Given the description of an element on the screen output the (x, y) to click on. 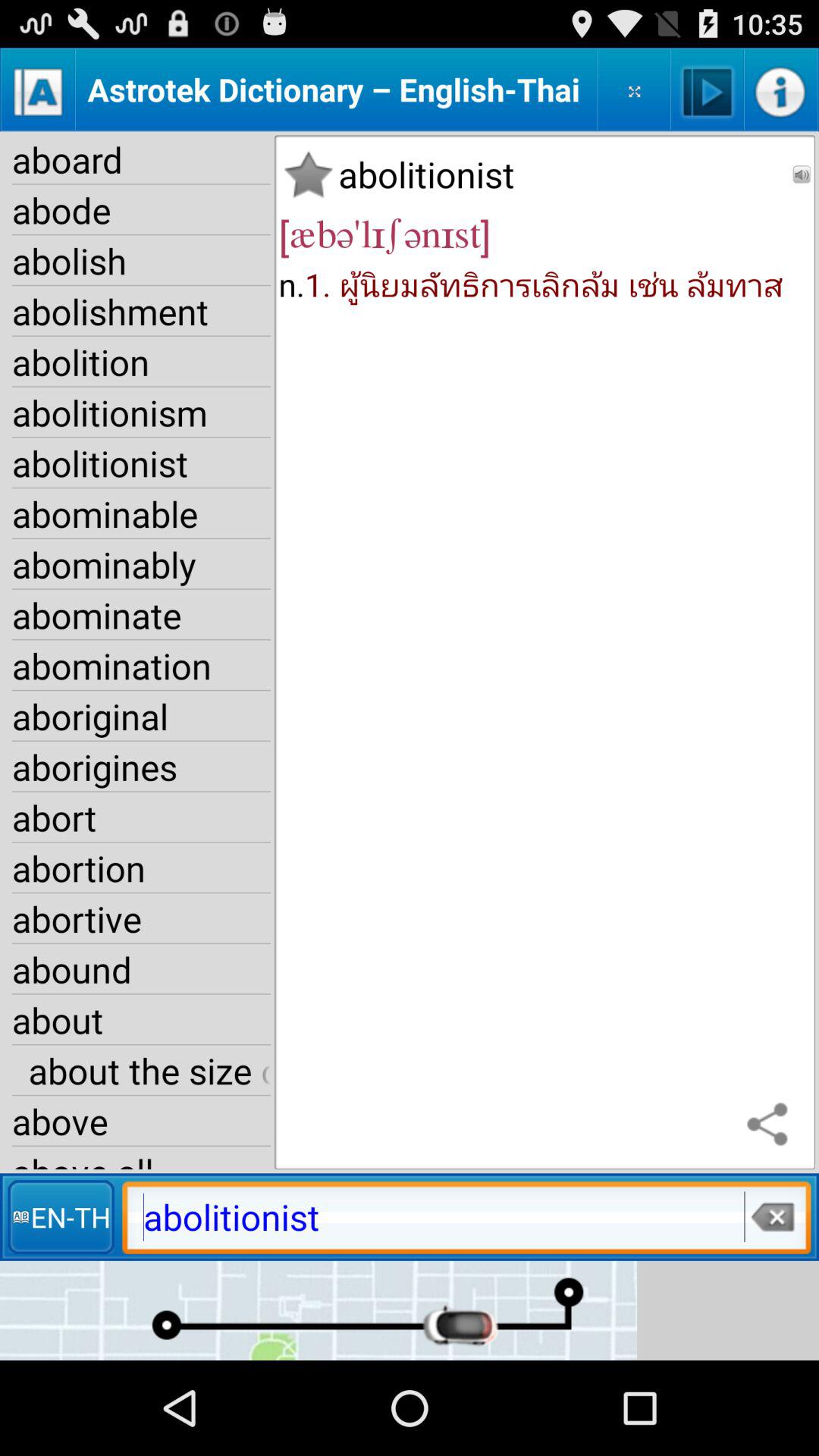
share (771, 1125)
